Given the description of an element on the screen output the (x, y) to click on. 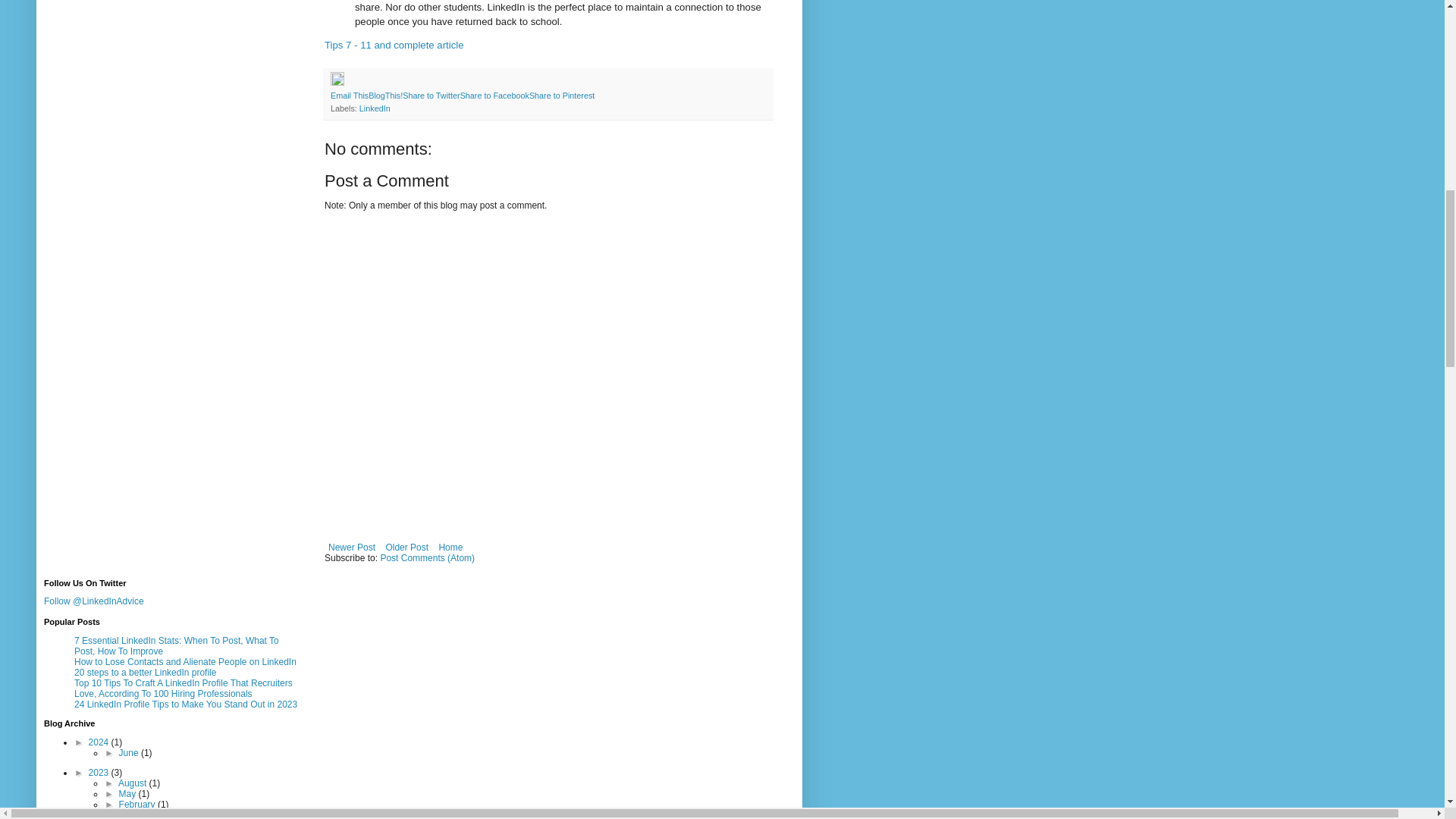
Older Post (406, 547)
Share to Facebook (494, 94)
May (128, 793)
20 steps to a better LinkedIn profile (144, 672)
2023 (100, 772)
How to Lose Contacts and Alienate People on LinkedIn (185, 661)
2024 (100, 742)
Share to Pinterest (561, 94)
Edit Post (336, 81)
BlogThis! (385, 94)
August (133, 783)
February (138, 804)
Newer Post (351, 547)
BlogThis! (385, 94)
LinkedIn (374, 108)
